Given the description of an element on the screen output the (x, y) to click on. 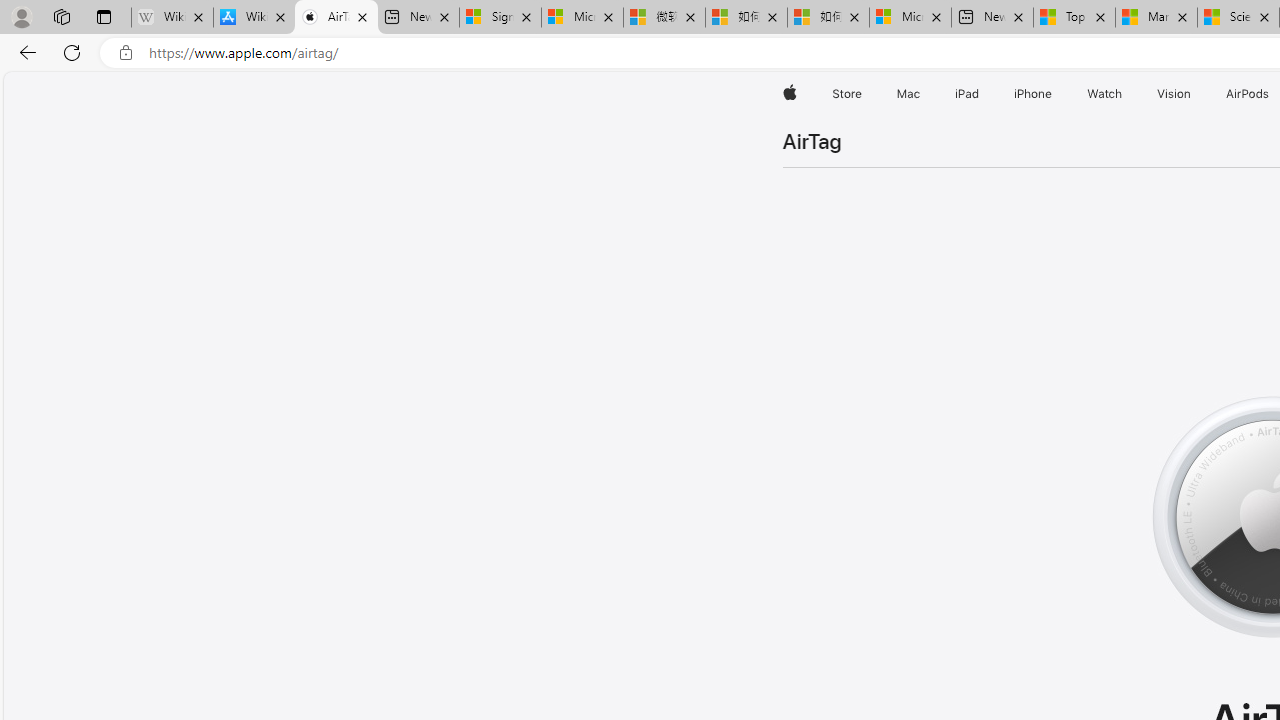
iPhone (1033, 93)
AirPods (1247, 93)
AirTag - Apple (336, 17)
Store (846, 93)
Vision menu (1195, 93)
Store (846, 93)
iPad menu (982, 93)
Microsoft Services Agreement (582, 17)
Mac (908, 93)
Vision (1174, 93)
